Given the description of an element on the screen output the (x, y) to click on. 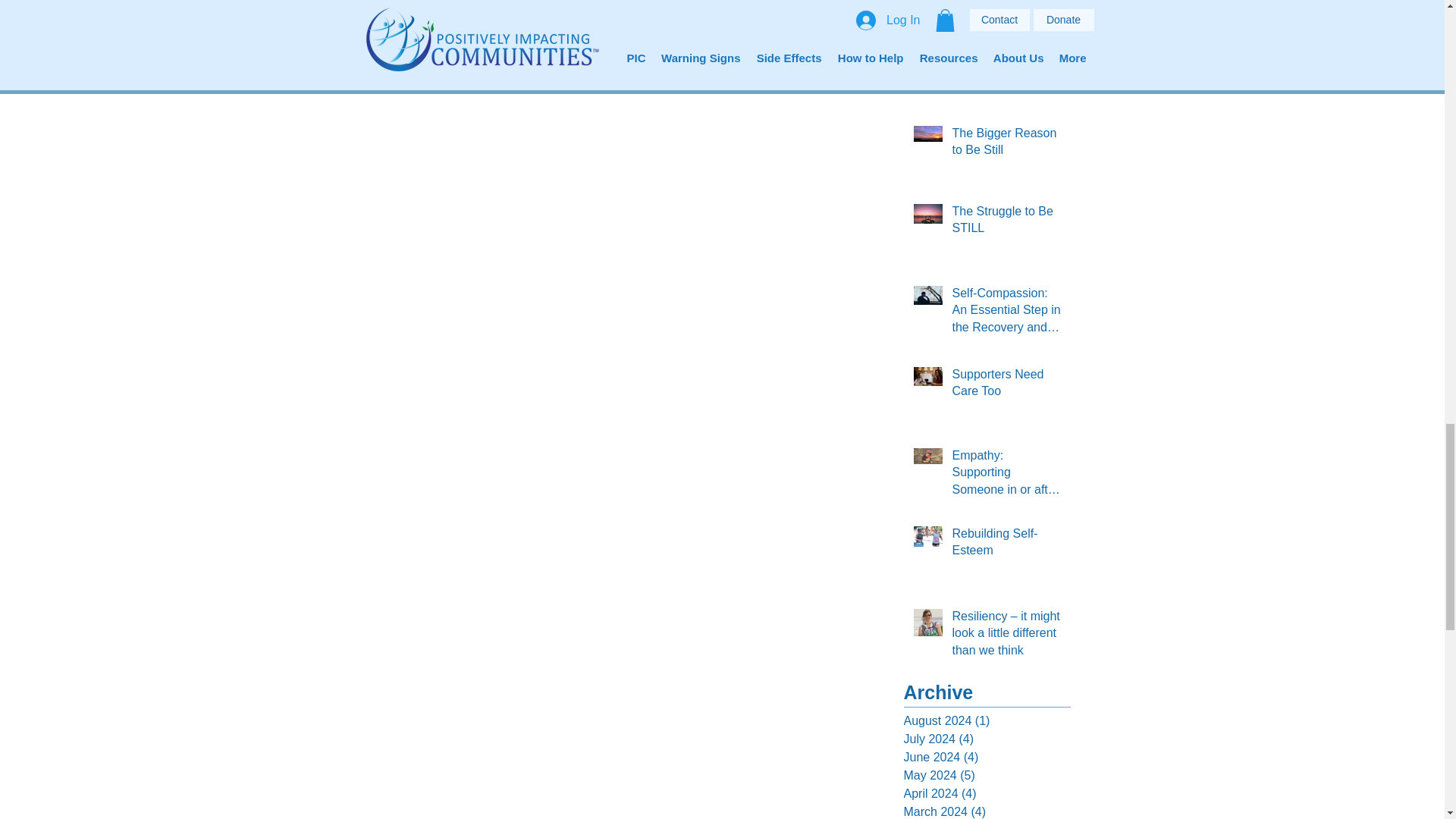
Managing Victim Mentality (1006, 60)
Supporters Need Care Too (1006, 386)
The Struggle to Be STILL (1006, 223)
The Bigger Reason to Be Still (1006, 145)
